Given the description of an element on the screen output the (x, y) to click on. 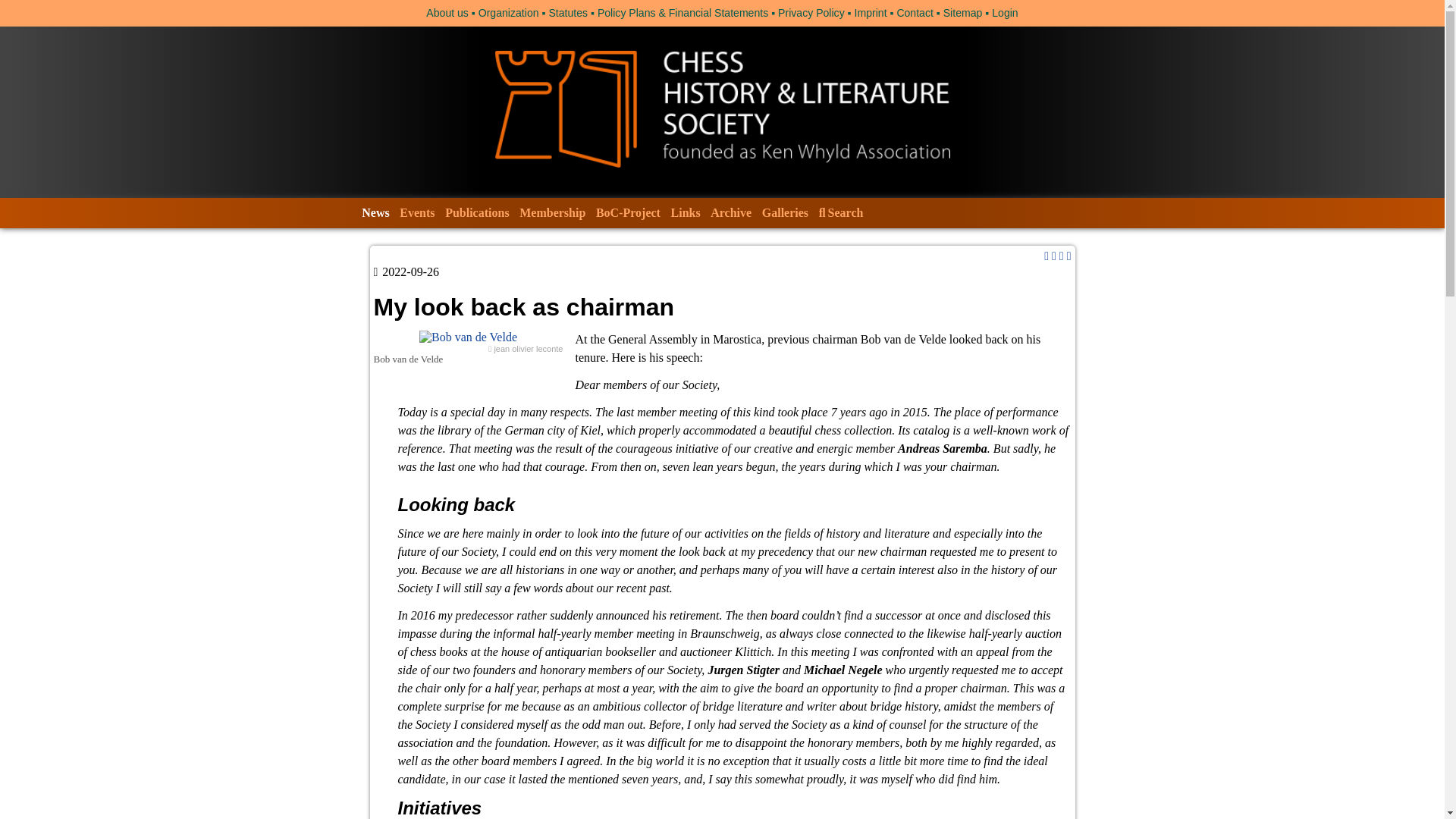
BoC-Project (627, 212)
Imprint (870, 12)
Publications (476, 212)
Organization (508, 12)
Statutes (568, 12)
About us (447, 12)
Galleries (785, 212)
Search (840, 212)
Sitemap (962, 12)
Events (417, 212)
